Given the description of an element on the screen output the (x, y) to click on. 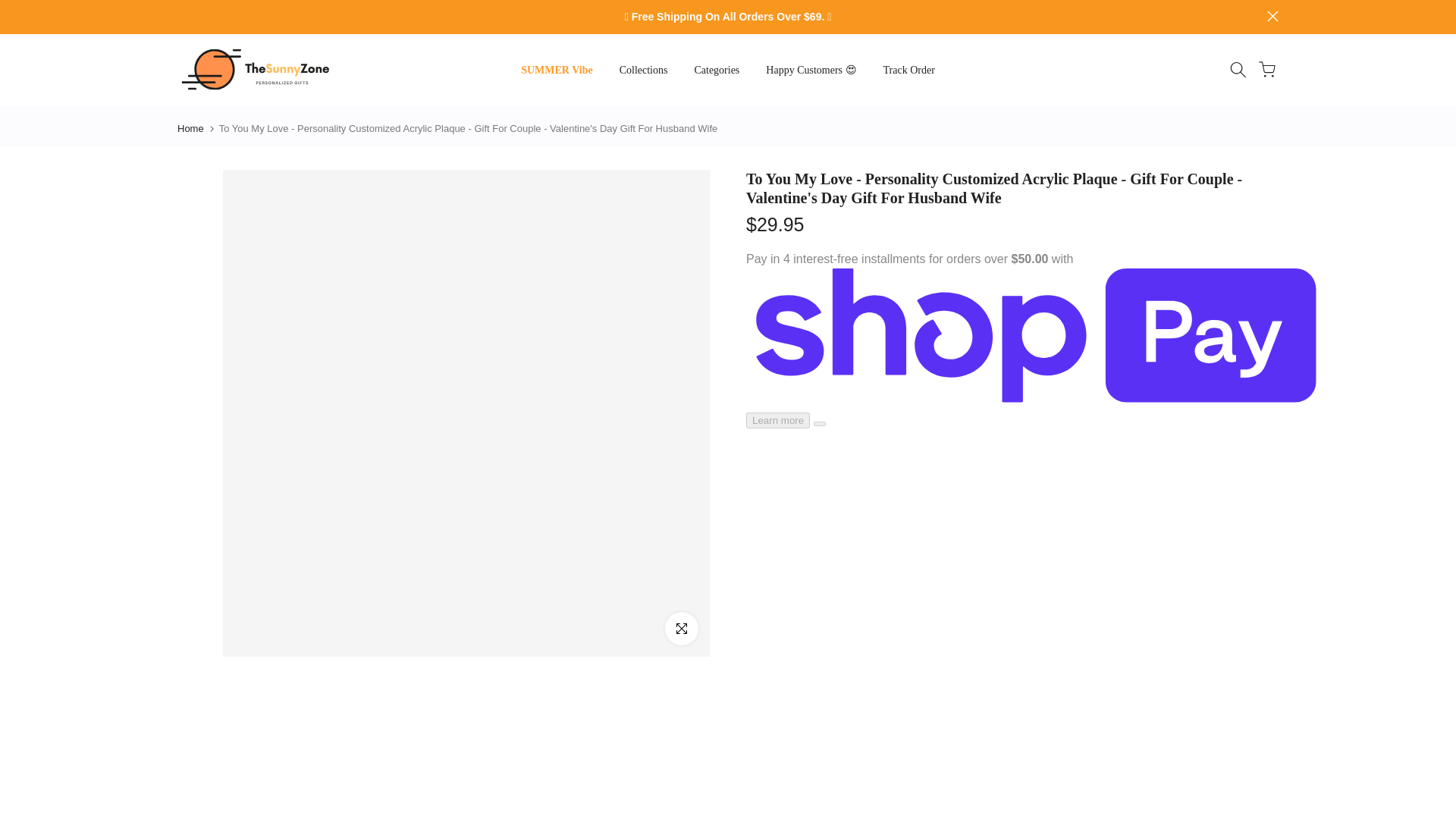
Skip to content (10, 7)
SUMMER Vibe (557, 70)
Track Order (908, 70)
close (1272, 16)
Collections (643, 70)
Categories (716, 70)
Home (190, 128)
